Given the description of an element on the screen output the (x, y) to click on. 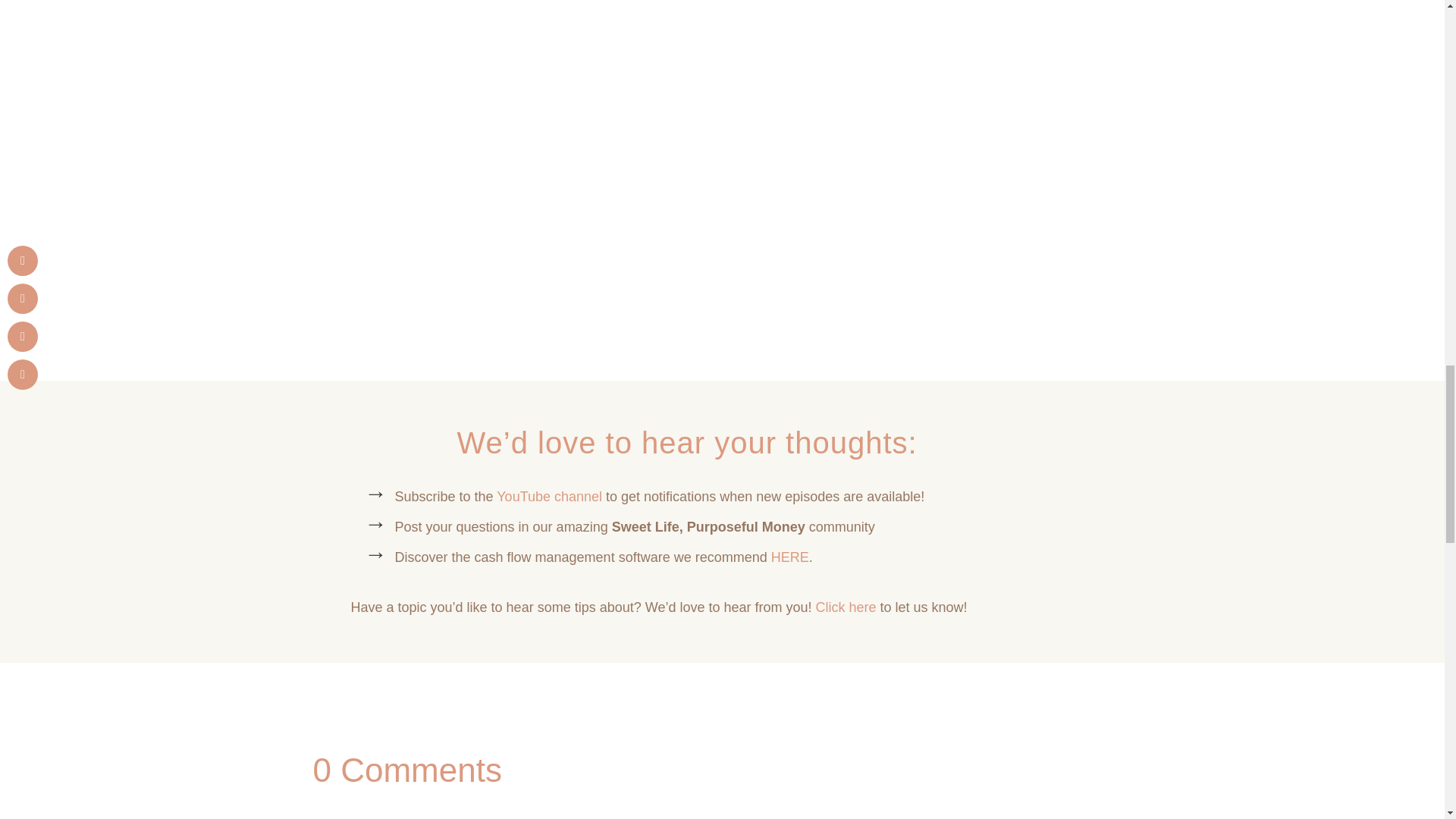
Click here (845, 607)
YouTube channel (549, 496)
HERE (790, 557)
